Given the description of an element on the screen output the (x, y) to click on. 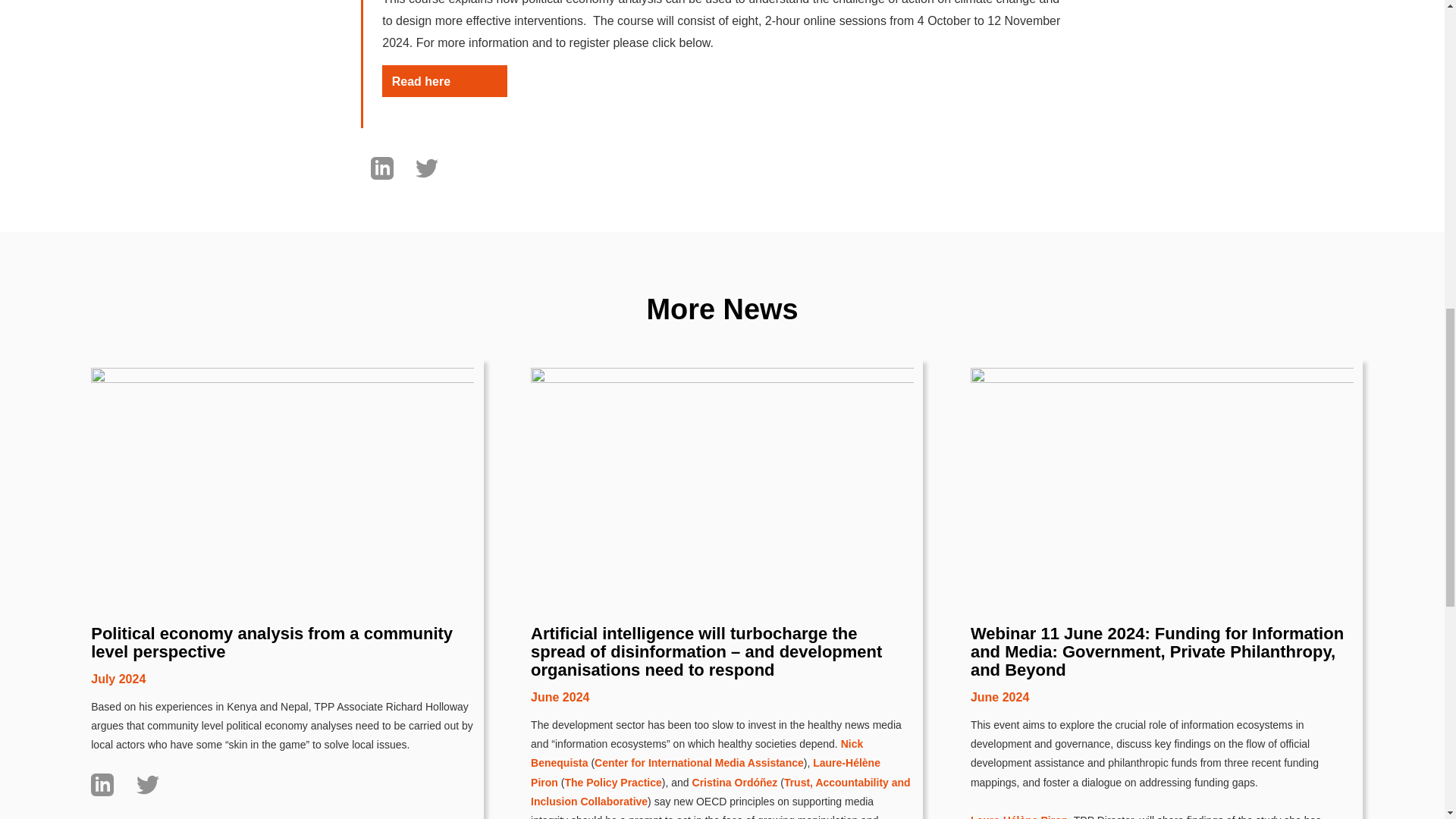
Center for International Media Assistance (698, 762)
Nick Benequista (697, 753)
Read here (443, 81)
The Policy Practice (612, 782)
